Given the description of an element on the screen output the (x, y) to click on. 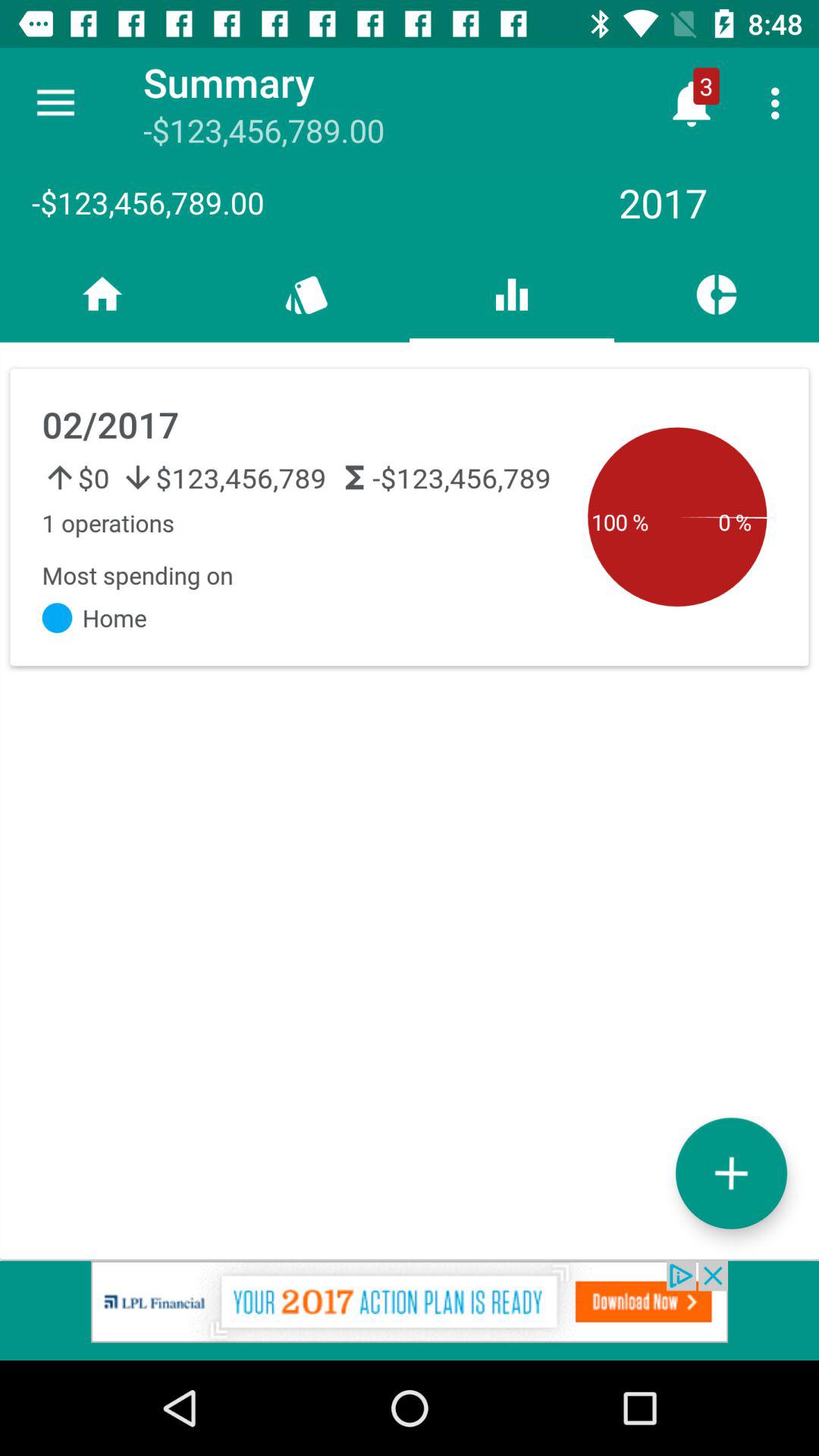
advantisment (409, 1310)
